Given the description of an element on the screen output the (x, y) to click on. 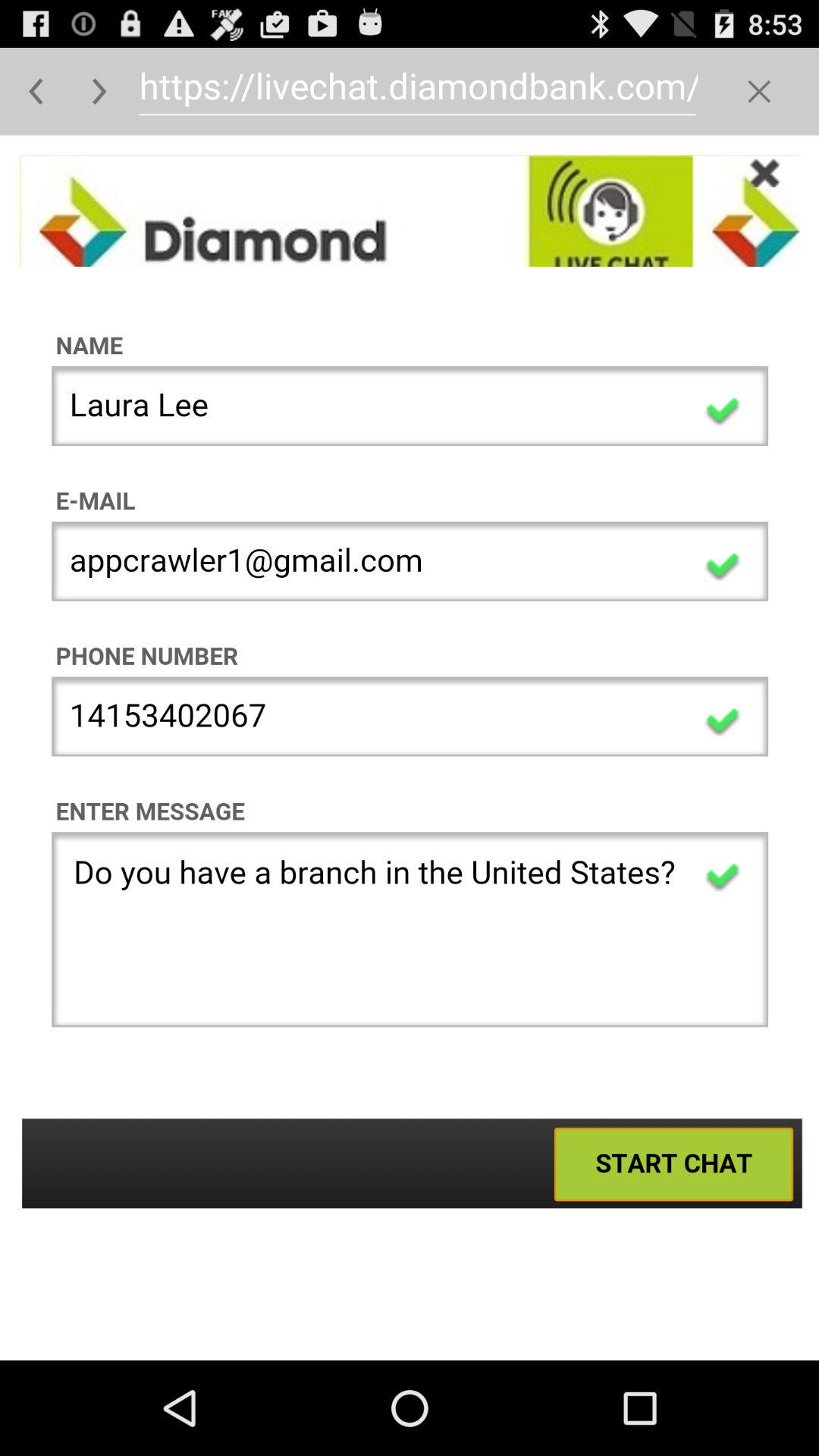
menu page (759, 91)
